Given the description of an element on the screen output the (x, y) to click on. 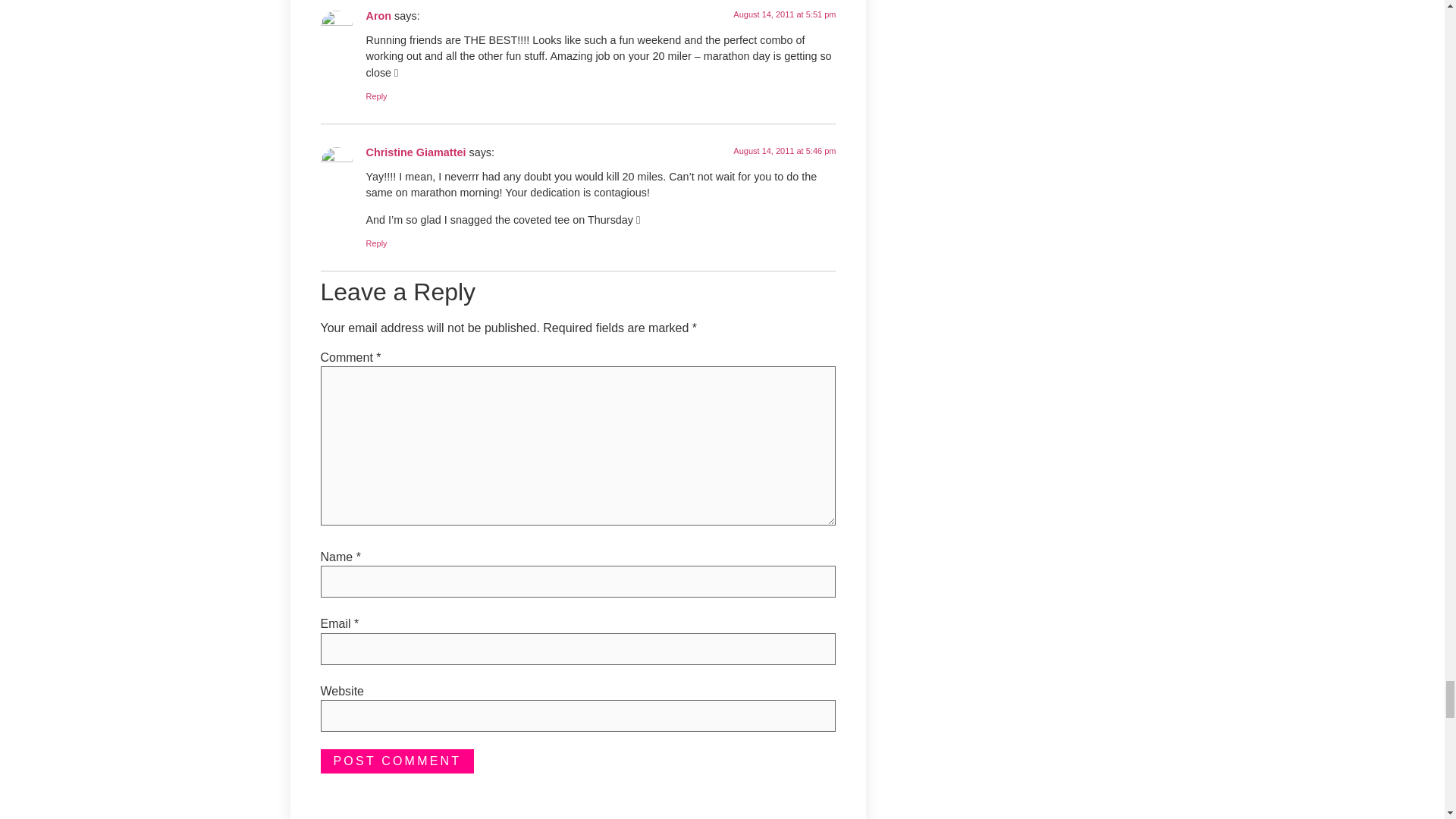
Post Comment (397, 761)
